Given the description of an element on the screen output the (x, y) to click on. 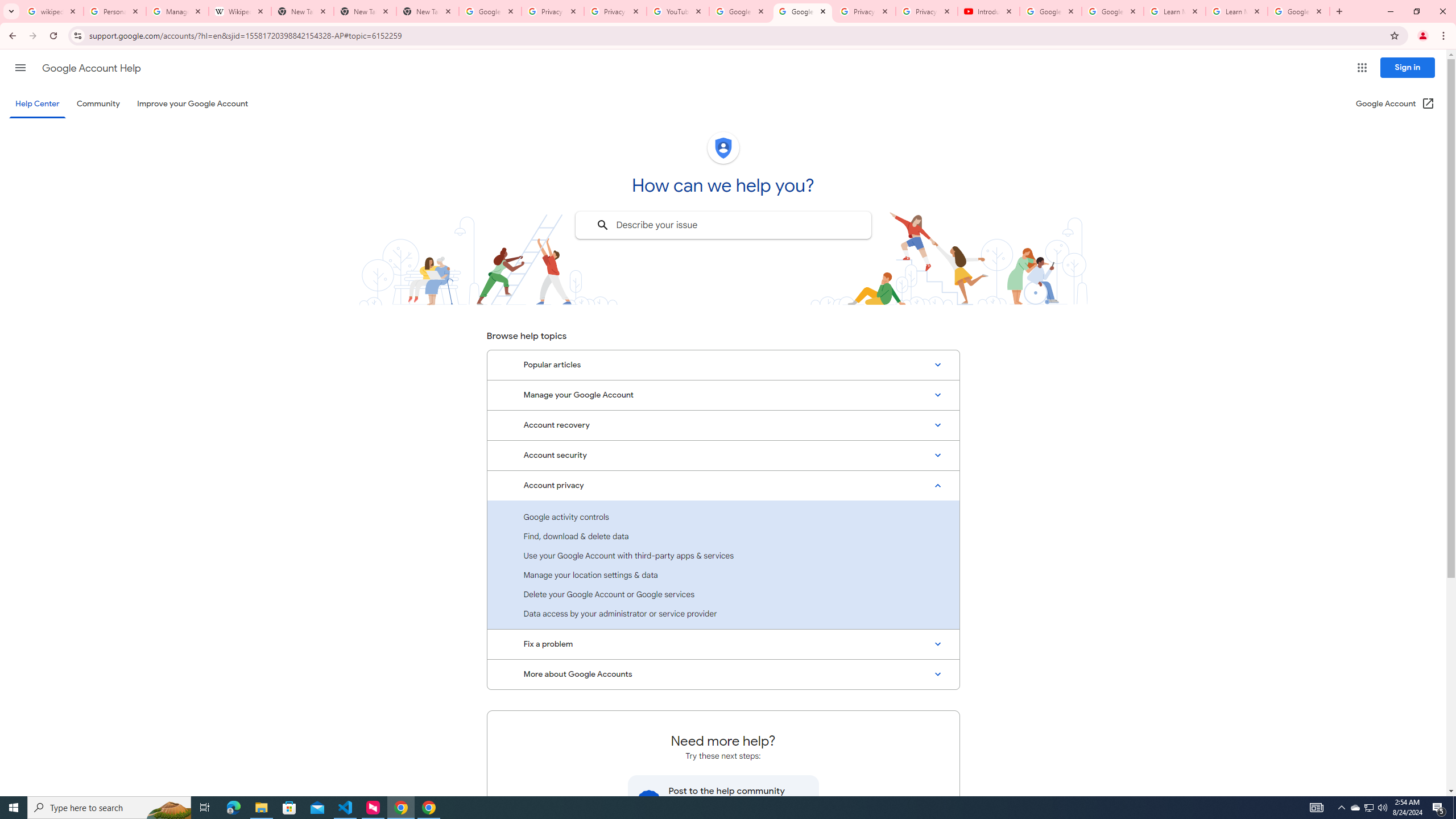
Improve your Google Account (192, 103)
Popular articles (722, 365)
Google Account Help (802, 11)
Help Center (36, 103)
Account privacy, Expanded list with 6 items (722, 485)
YouTube (678, 11)
Google Drive: Sign-in (490, 11)
Manage your Google Account (722, 395)
Introduction | Google Privacy Policy - YouTube (988, 11)
